Given the description of an element on the screen output the (x, y) to click on. 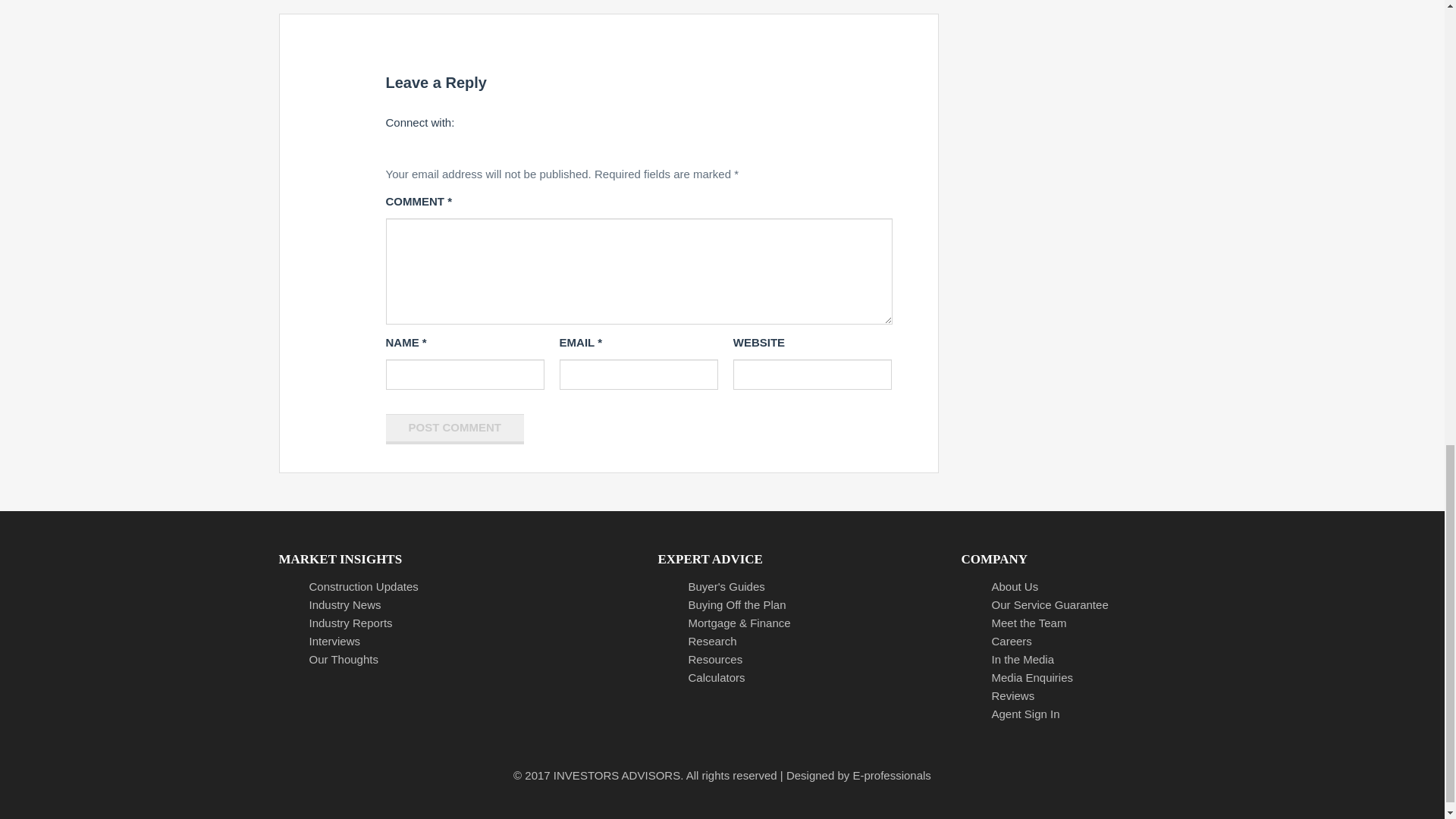
Post Comment (454, 429)
